Given the description of an element on the screen output the (x, y) to click on. 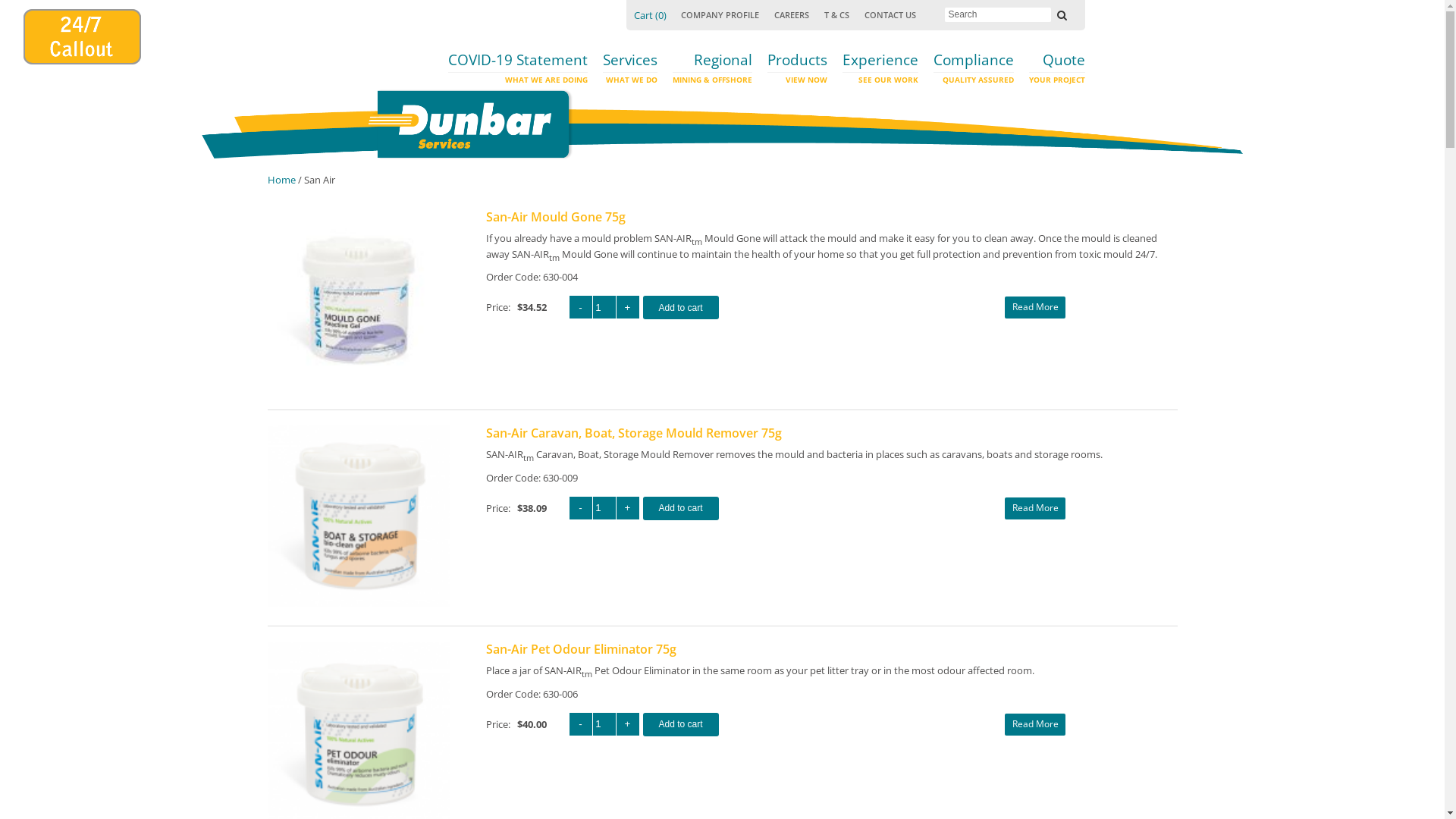
Read More Element type: text (1034, 508)
Products
VIEW NOW Element type: text (797, 72)
Qty Element type: hover (603, 507)
Services
WHAT WE DO Element type: text (629, 72)
Regional
MINING & OFFSHORE Element type: text (711, 72)
Dunbar Services Element type: text (469, 124)
COMPANY PROFILE Element type: text (719, 12)
CONTACT US Element type: text (890, 12)
Compliance
QUALITY ASSURED Element type: text (972, 72)
Add to cart Element type: text (680, 724)
Quote
YOUR PROJECT Element type: text (1056, 72)
Read More Element type: text (1034, 307)
T & CS Element type: text (835, 12)
COVID-19 Statement
WHAT WE ARE DOING Element type: text (516, 72)
Qty Element type: hover (603, 306)
CAREERS Element type: text (790, 12)
Add to cart Element type: text (680, 307)
Home Element type: text (280, 179)
Experience
SEE OUR WORK Element type: text (879, 72)
Cart (0) Element type: text (649, 14)
Qty Element type: hover (603, 724)
Add to cart Element type: text (680, 508)
Read More Element type: text (1034, 724)
